Given the description of an element on the screen output the (x, y) to click on. 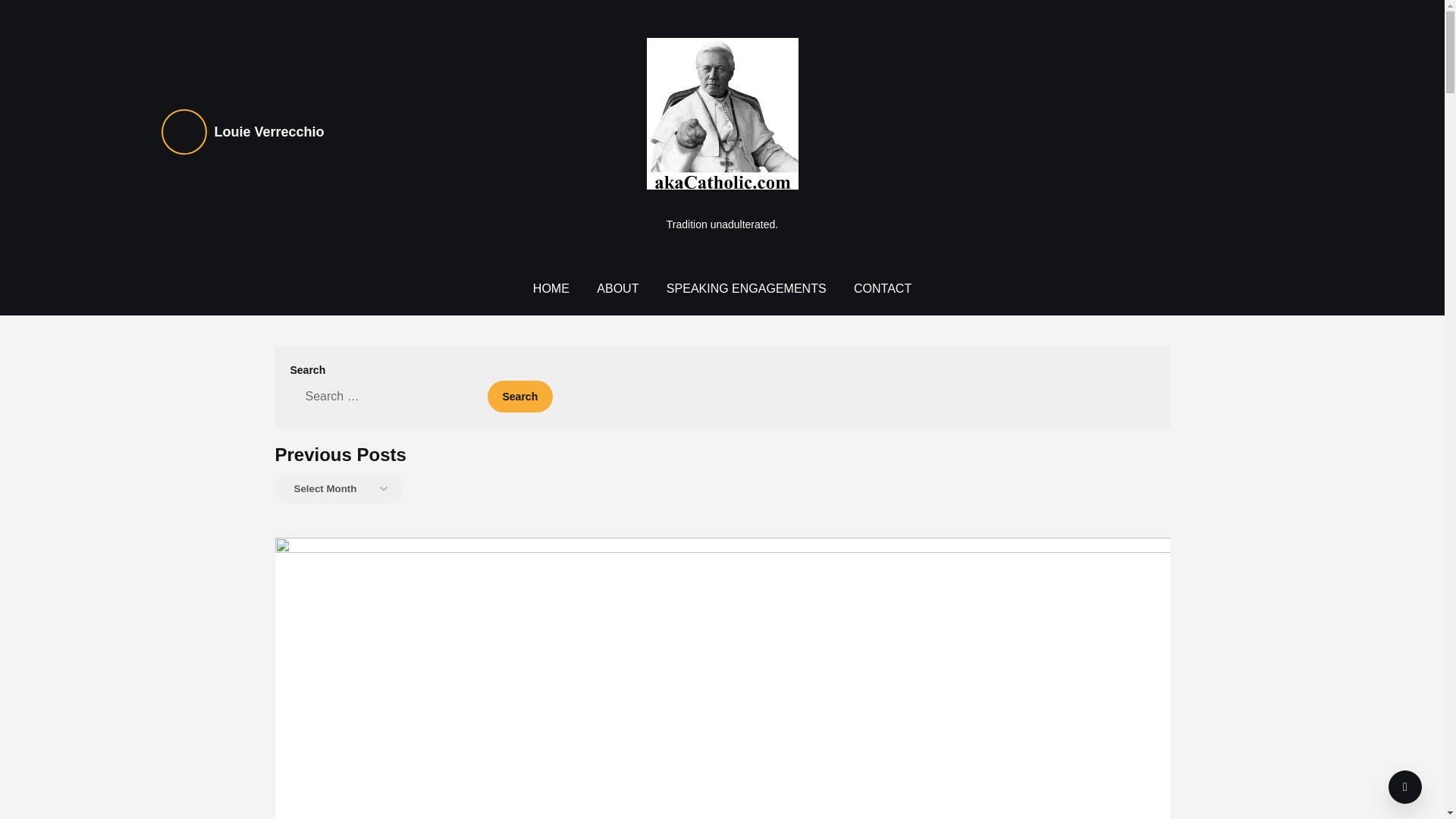
CONTACT (882, 288)
Search (519, 396)
Search (519, 396)
HOME (550, 288)
ABOUT (617, 288)
To Top (1405, 786)
Search (519, 396)
SPEAKING ENGAGEMENTS (745, 288)
